Given the description of an element on the screen output the (x, y) to click on. 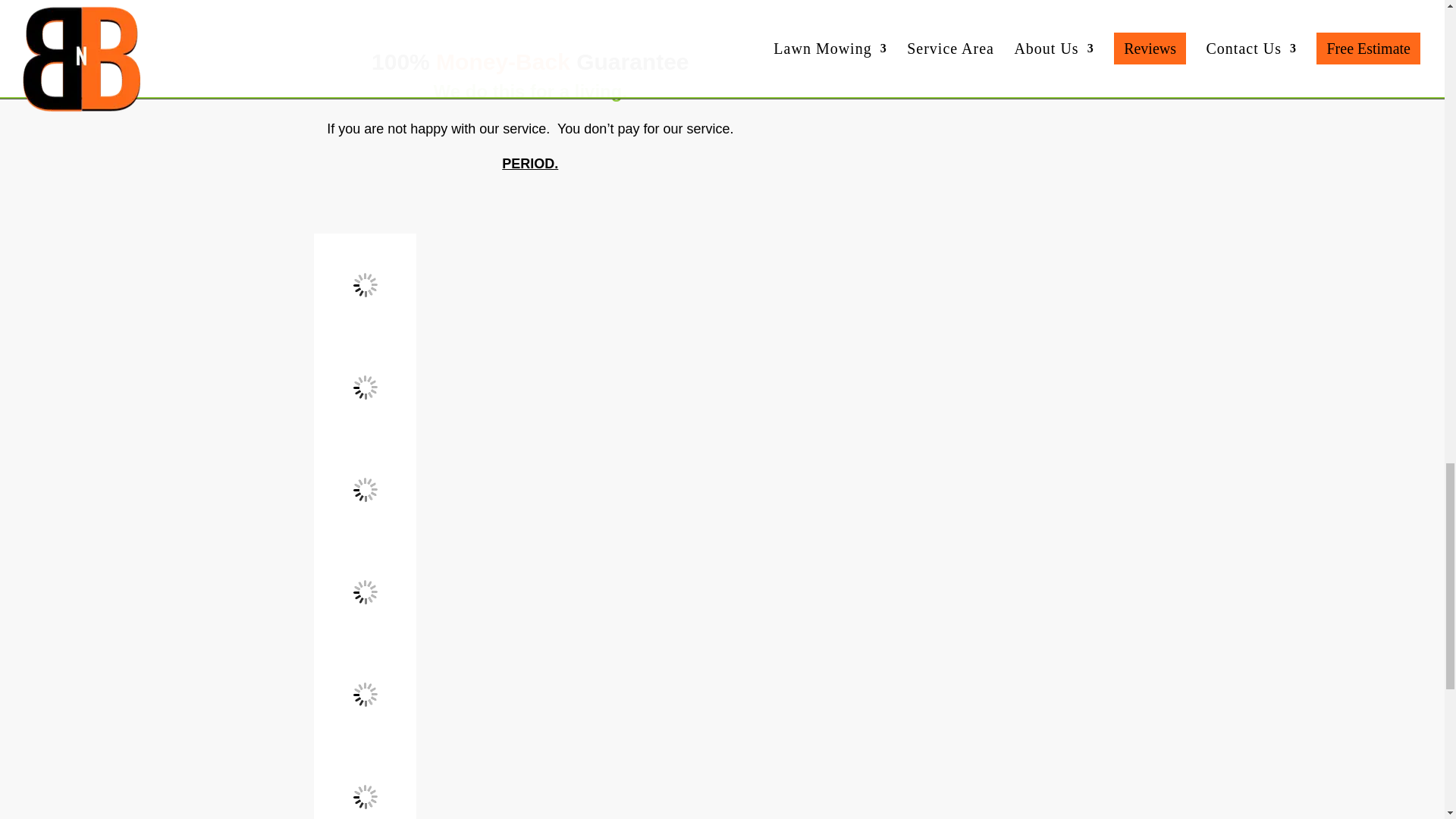
employee raking leaves (365, 782)
employee spraying weeds (365, 591)
employee pruning shrubs (365, 693)
Top Rated Lawn Mowing Company (530, 24)
employee spreading mulch (365, 386)
employee mowing lawn (365, 284)
employee spraying mosquitoes (365, 489)
